Given the description of an element on the screen output the (x, y) to click on. 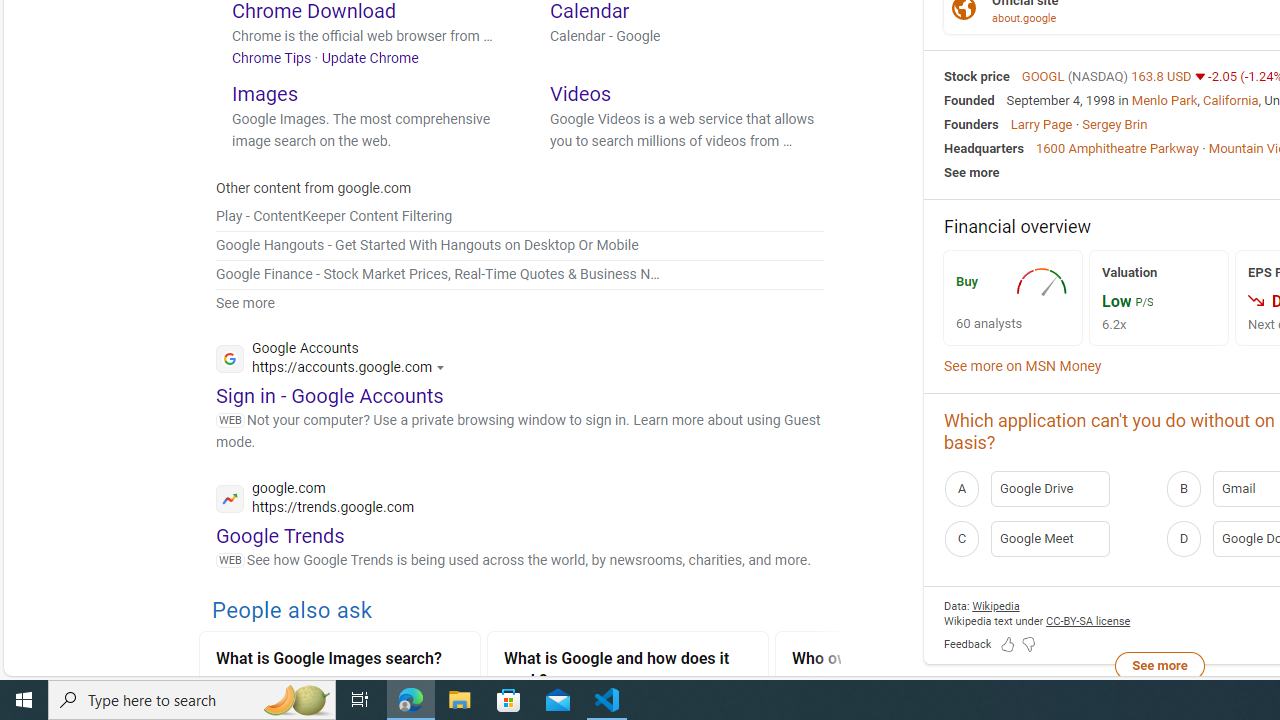
Play - ContentKeeper Content Filtering (520, 216)
Headquarters (984, 147)
California (1231, 100)
Feedback Dislike (1028, 645)
See more on MSN Money (1023, 366)
Class: rms_img (1256, 299)
Menlo Park (1164, 100)
A Google Drive (1049, 488)
Play - ContentKeeper Content Filtering (333, 215)
Sign in - Google Accounts (330, 395)
Buy 60 analysts (1012, 296)
Other content from google.com (314, 188)
Feedback Like (1007, 645)
